Given the description of an element on the screen output the (x, y) to click on. 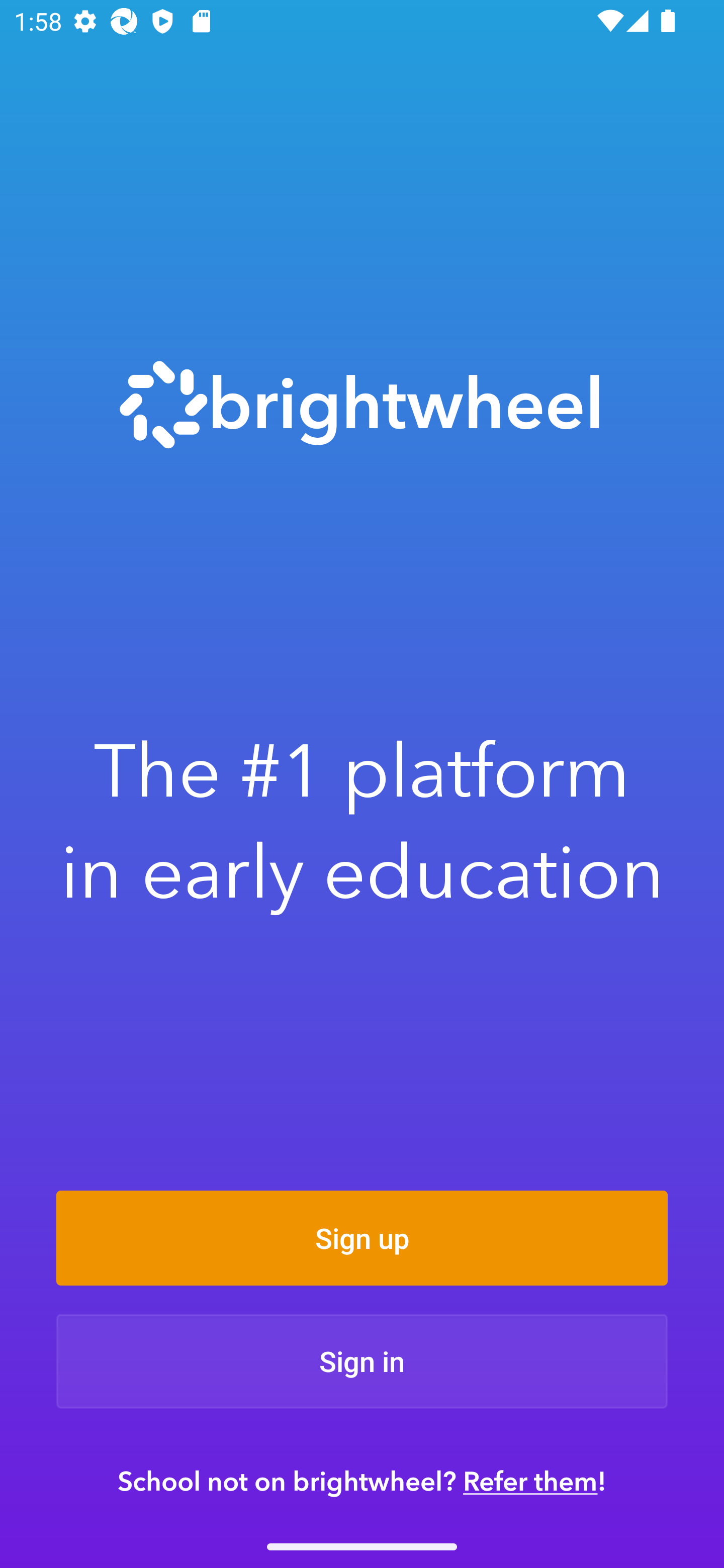
Sign up (361, 1237)
Sign in (361, 1360)
School not on brightwheel? Refer them! (361, 1480)
